Given the description of an element on the screen output the (x, y) to click on. 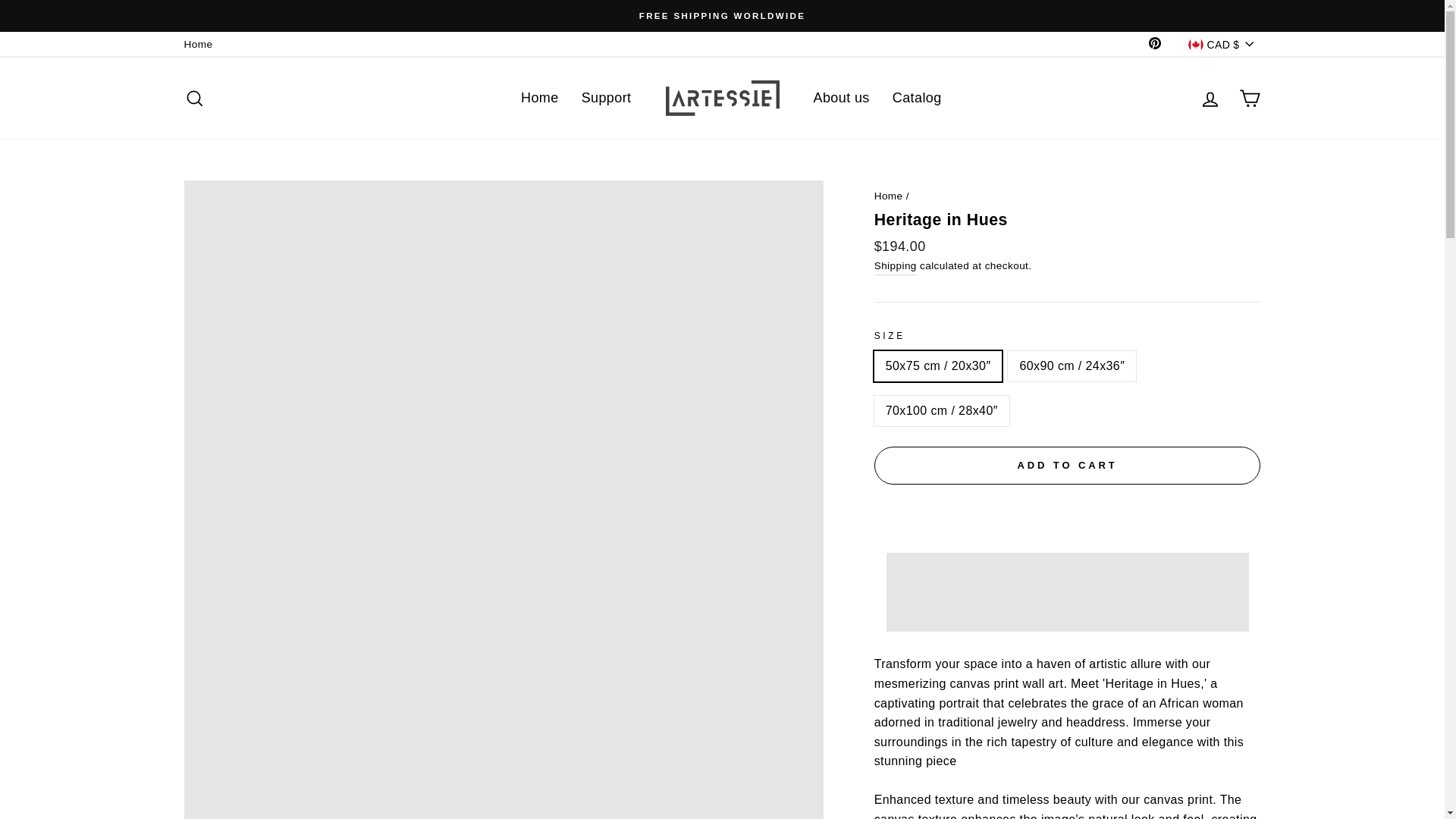
Back to the frontpage (888, 195)
